Given the description of an element on the screen output the (x, y) to click on. 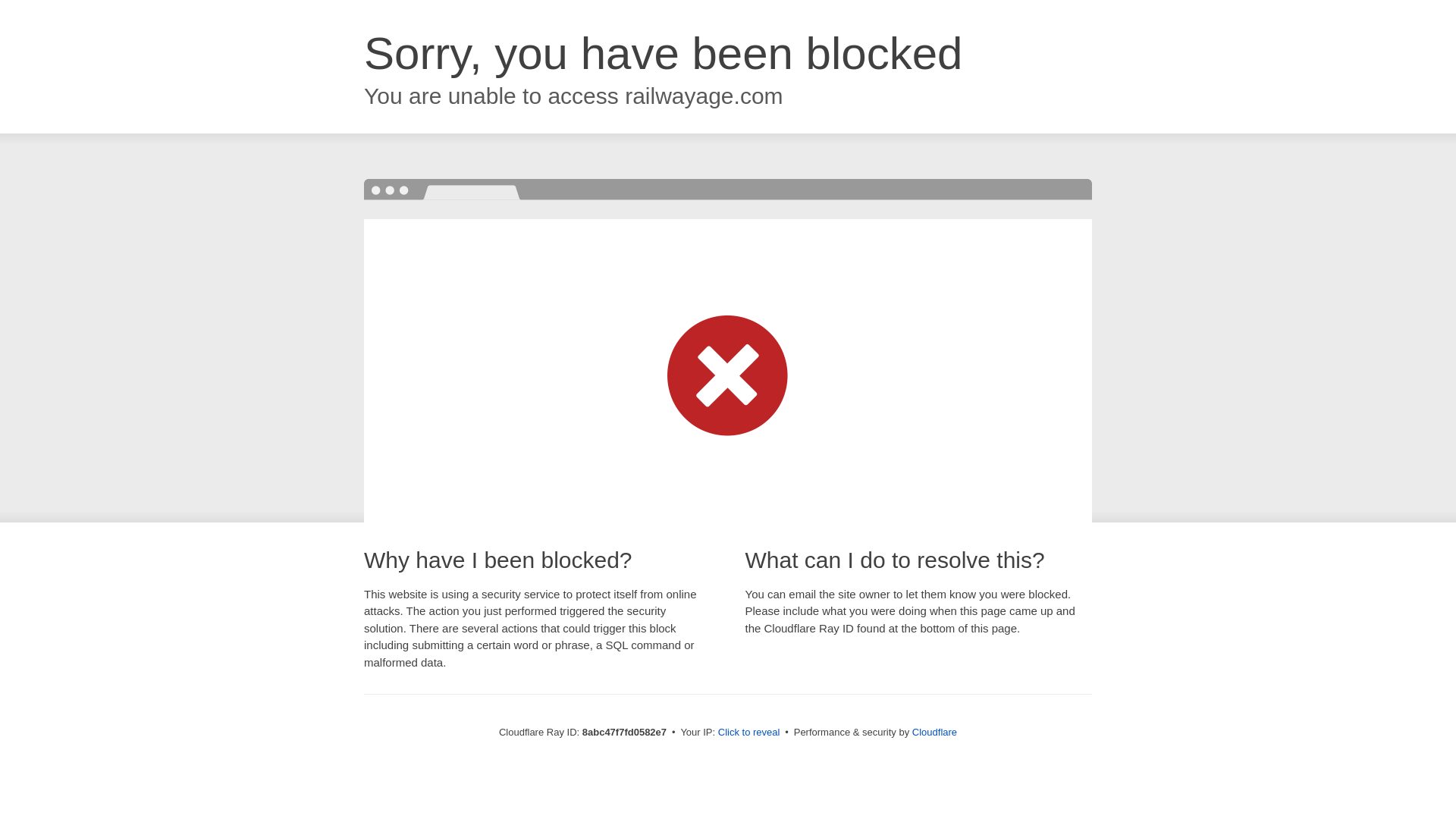
Cloudflare (934, 731)
Click to reveal (748, 732)
